Given the description of an element on the screen output the (x, y) to click on. 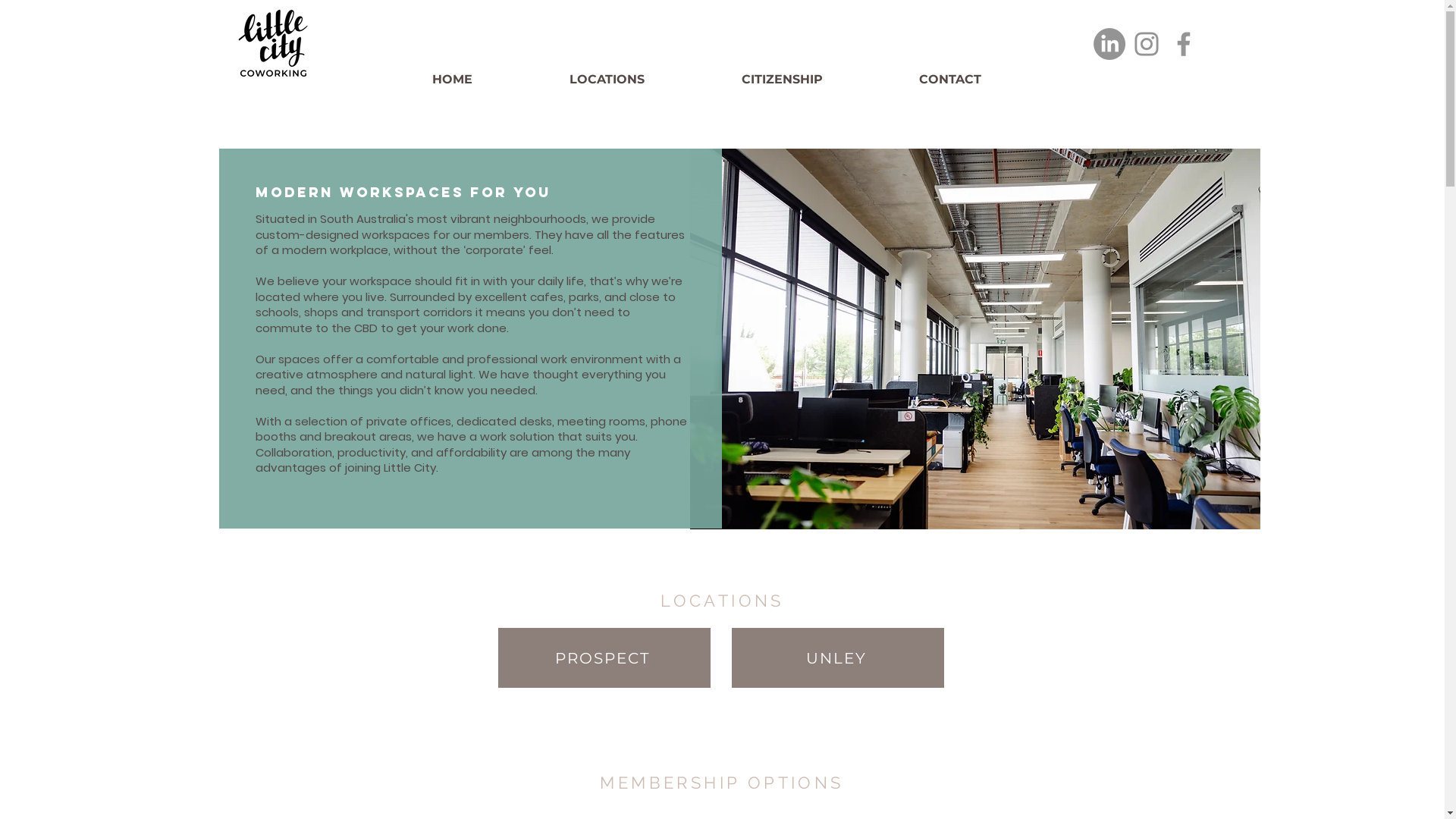
CITIZENSHIP Element type: text (822, 79)
PROSPECT Element type: text (603, 657)
CONTACT Element type: text (990, 79)
HOME Element type: text (492, 79)
LOCATIONS Element type: text (647, 79)
UNLEY Element type: text (837, 657)
